Given the description of an element on the screen output the (x, y) to click on. 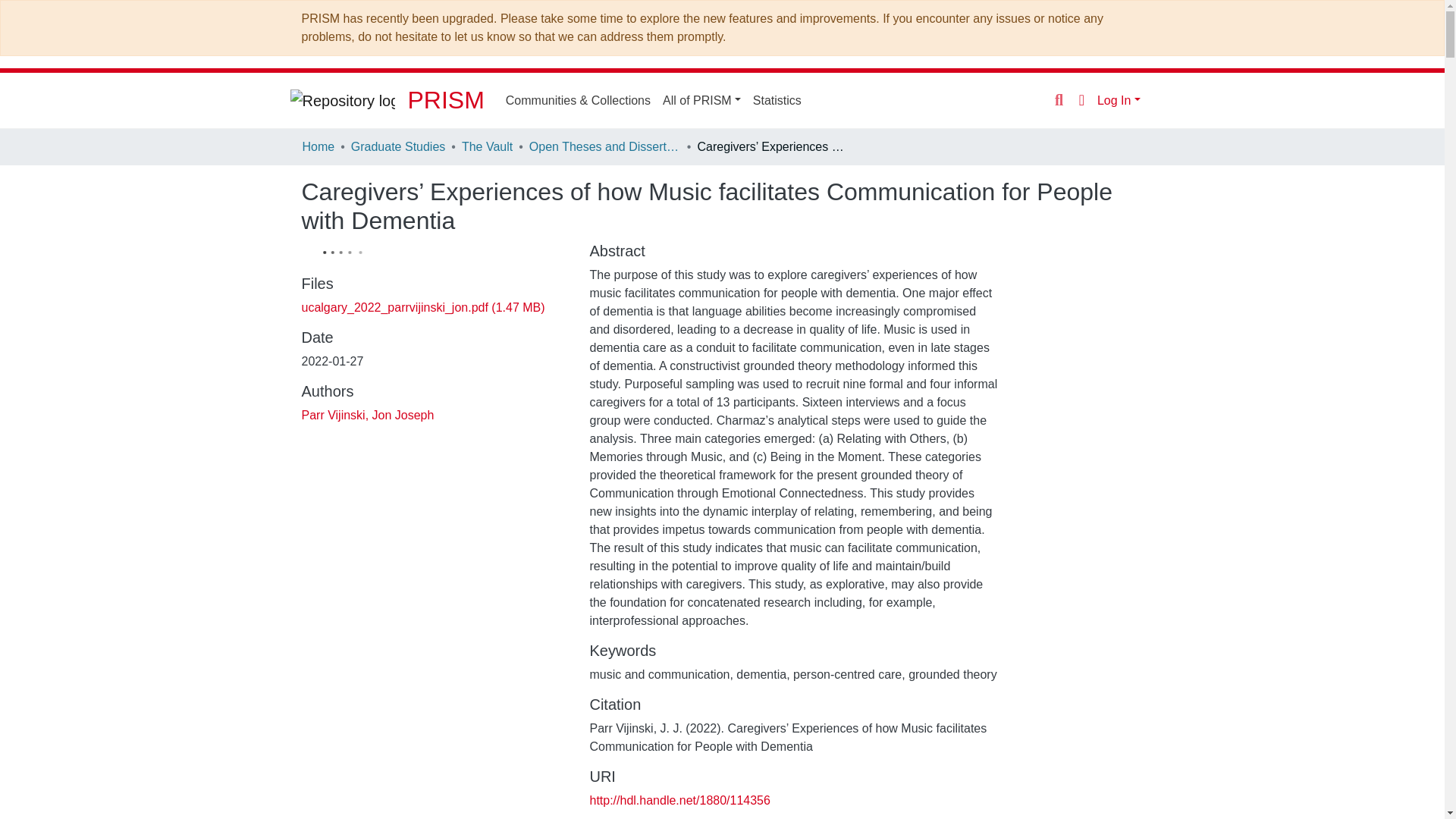
Search (1058, 100)
Language switch (1081, 99)
Statistics (777, 100)
The Vault (486, 147)
Log In (1118, 100)
Graduate Studies (397, 147)
Parr Vijinski, Jon Joseph (367, 414)
Home (317, 147)
Open Theses and Dissertations (605, 147)
Statistics (777, 100)
PRISM (445, 99)
All of PRISM (701, 100)
